Given the description of an element on the screen output the (x, y) to click on. 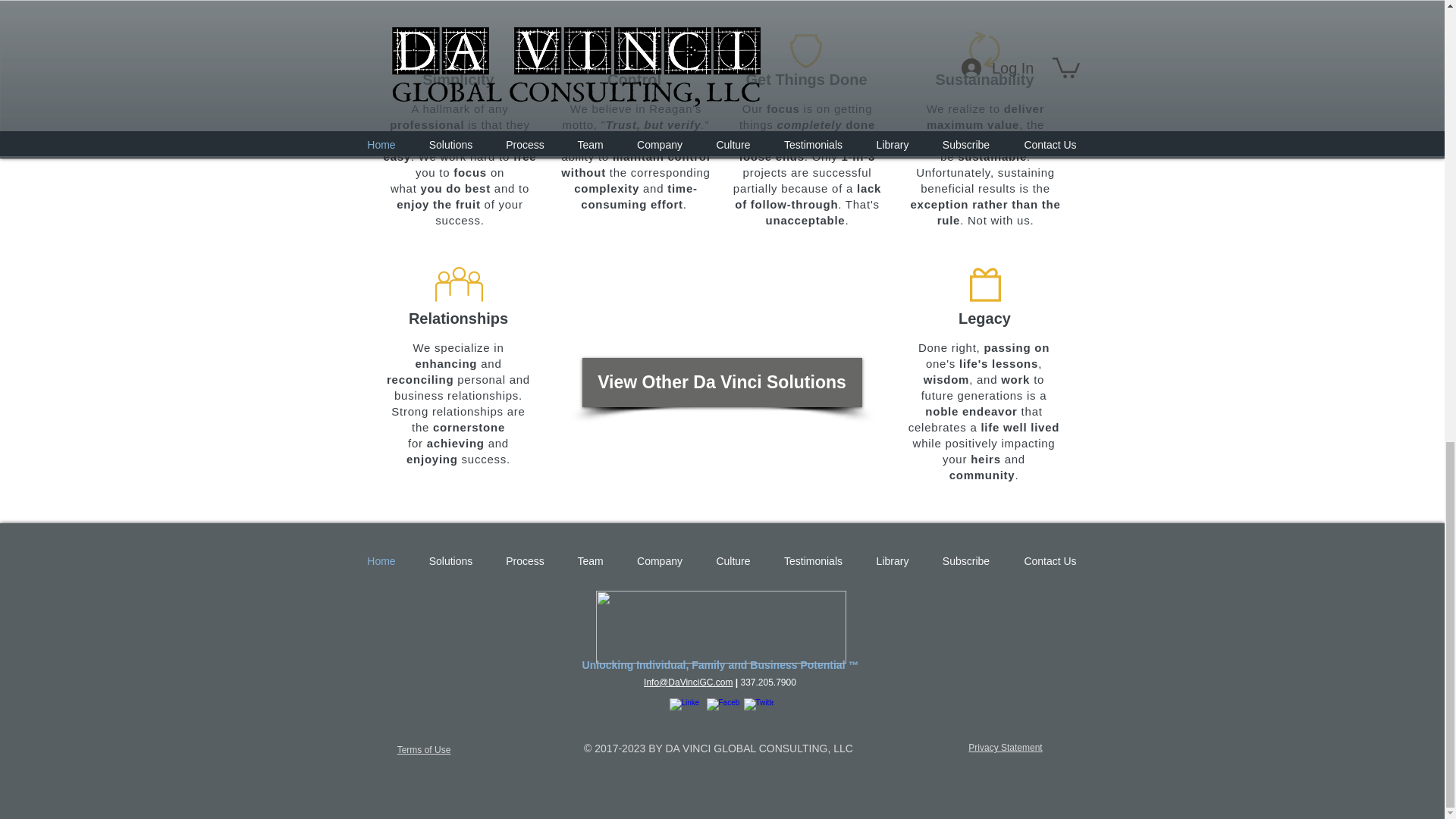
Culture (732, 560)
Contact Us (1050, 560)
Home (381, 560)
Company (660, 560)
View Other Da Vinci Solutions (721, 382)
Terms of Use (424, 749)
Library (893, 560)
Solutions (450, 560)
Testimonials (813, 560)
Team (590, 560)
